Given the description of an element on the screen output the (x, y) to click on. 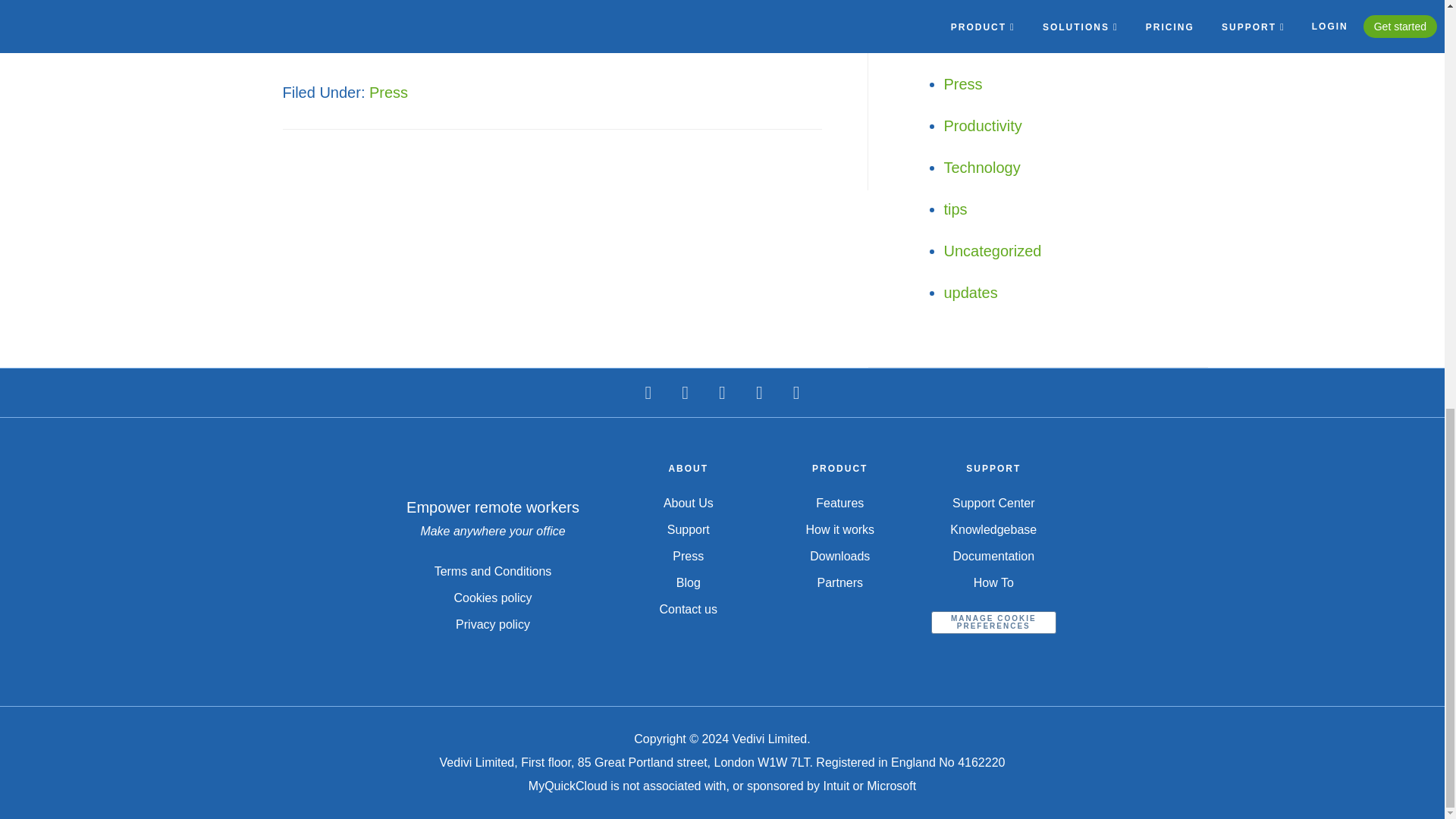
Twitter (648, 392)
Instagram (758, 392)
Knowledgebase (997, 42)
LinkedIn (796, 392)
Uncategorized (992, 250)
updates (970, 292)
Customer stories (1000, 4)
Technology (981, 167)
Productivity (982, 125)
website here (510, 42)
YouTube (722, 392)
Cookies policy (491, 597)
Terms and Conditions (492, 571)
tips (954, 208)
Facebook (684, 392)
